Given the description of an element on the screen output the (x, y) to click on. 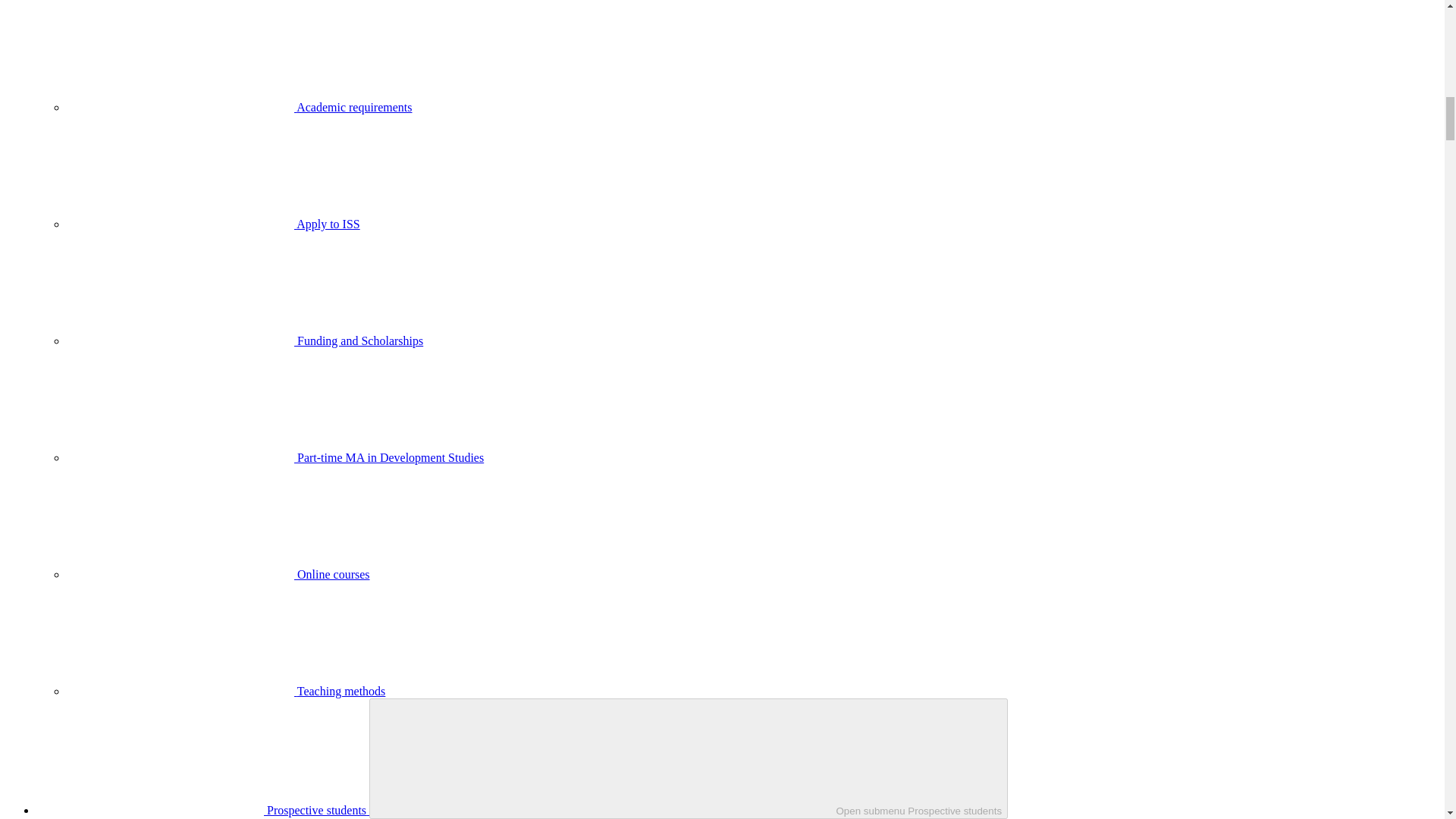
Academic requirements (239, 106)
Funding and Scholarships (244, 340)
Teaching methods (225, 690)
Open submenu Prospective students (688, 758)
Apply to ISS (212, 223)
Prospective students (202, 809)
Part-time MA in Development Studies (274, 457)
Online courses (217, 574)
